Given the description of an element on the screen output the (x, y) to click on. 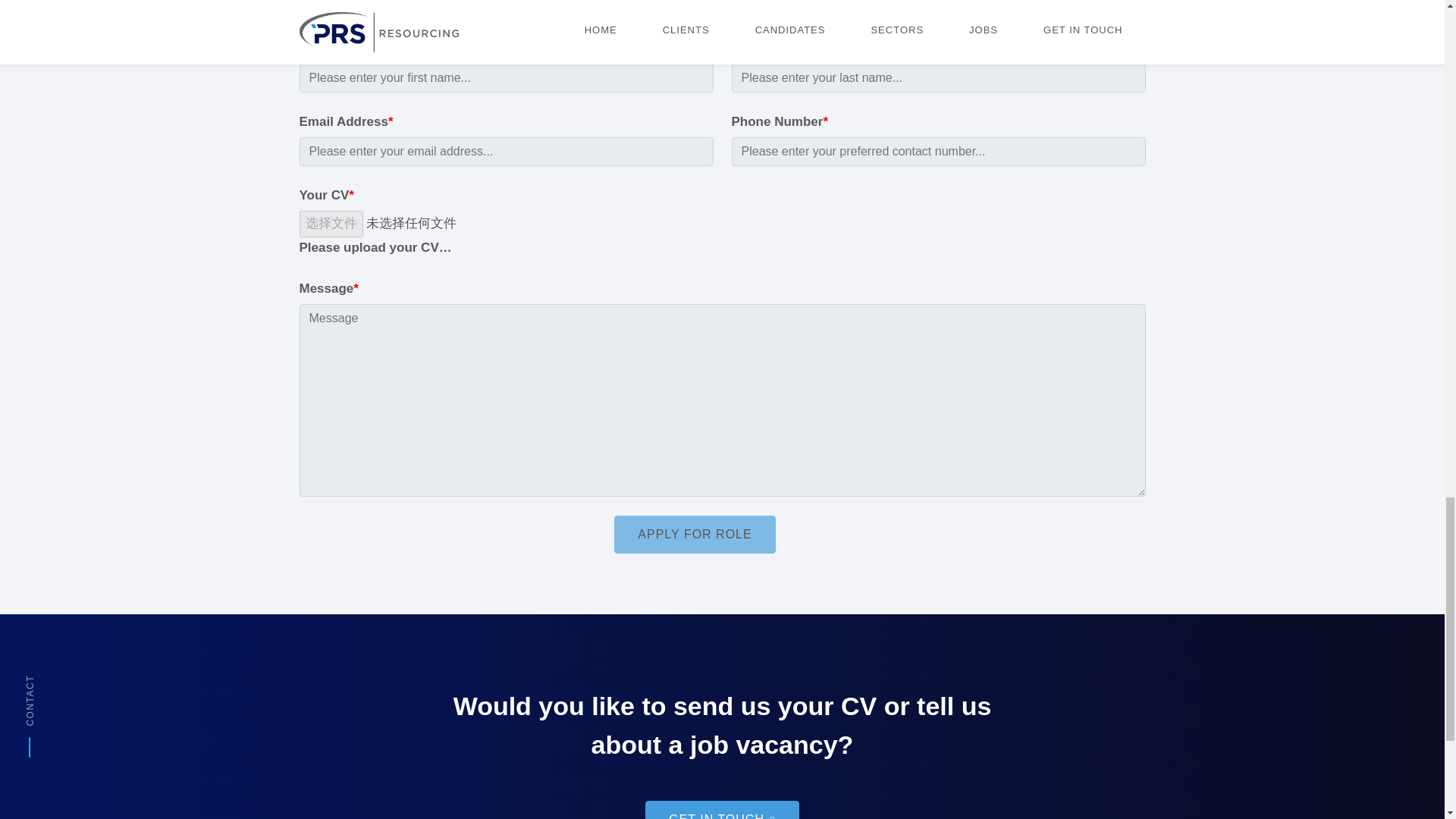
Apply for role (694, 534)
Apply for role (694, 534)
GET IN TOUCH (722, 809)
